Given the description of an element on the screen output the (x, y) to click on. 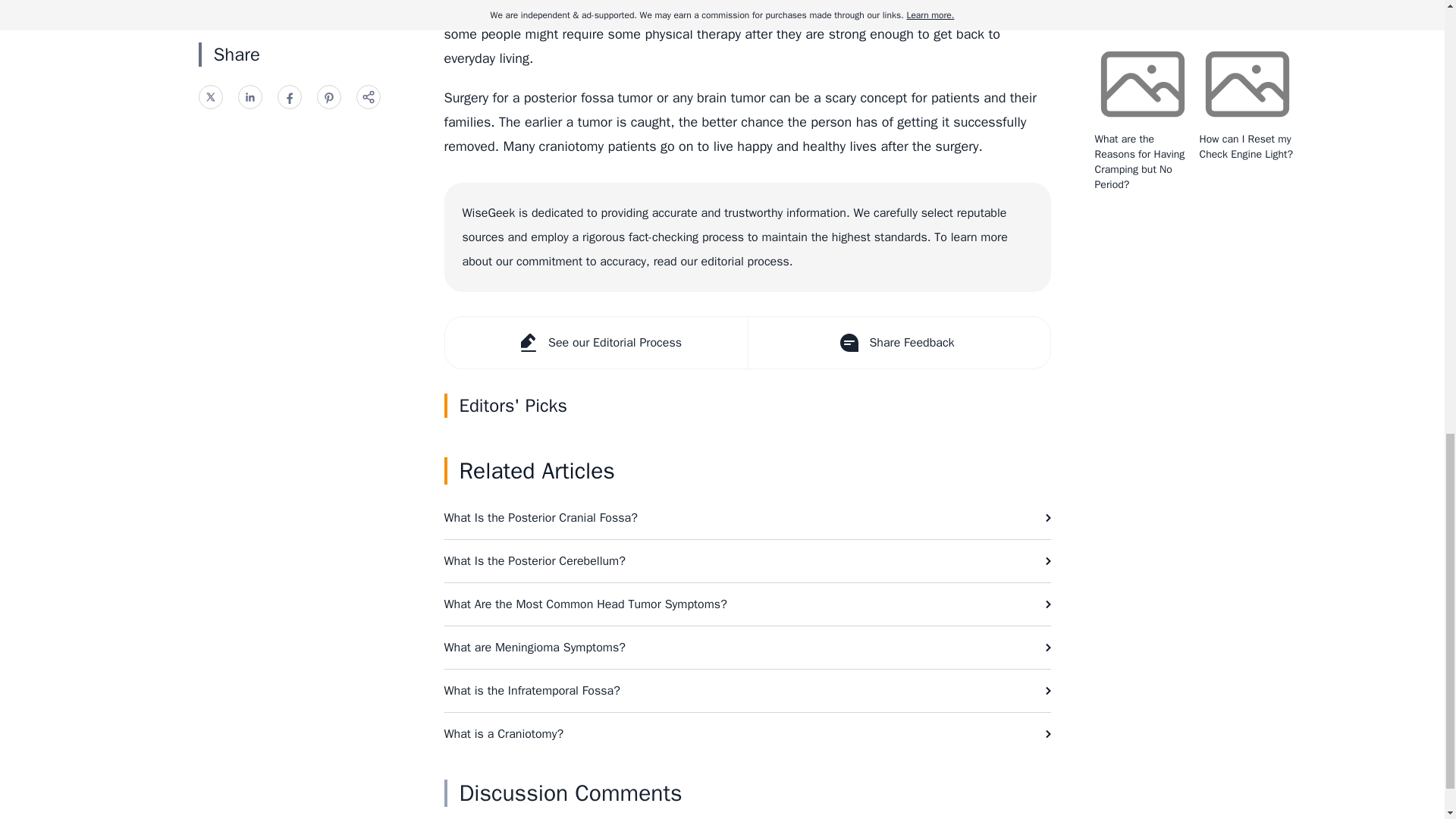
See our Editorial Process (595, 342)
Share Feedback (898, 342)
What Is the Posterior Cranial Fossa? (747, 517)
What Is the Posterior Cerebellum? (747, 560)
What are Meningioma Symptoms? (747, 647)
What Are the Most Common Head Tumor Symptoms? (747, 604)
